Given the description of an element on the screen output the (x, y) to click on. 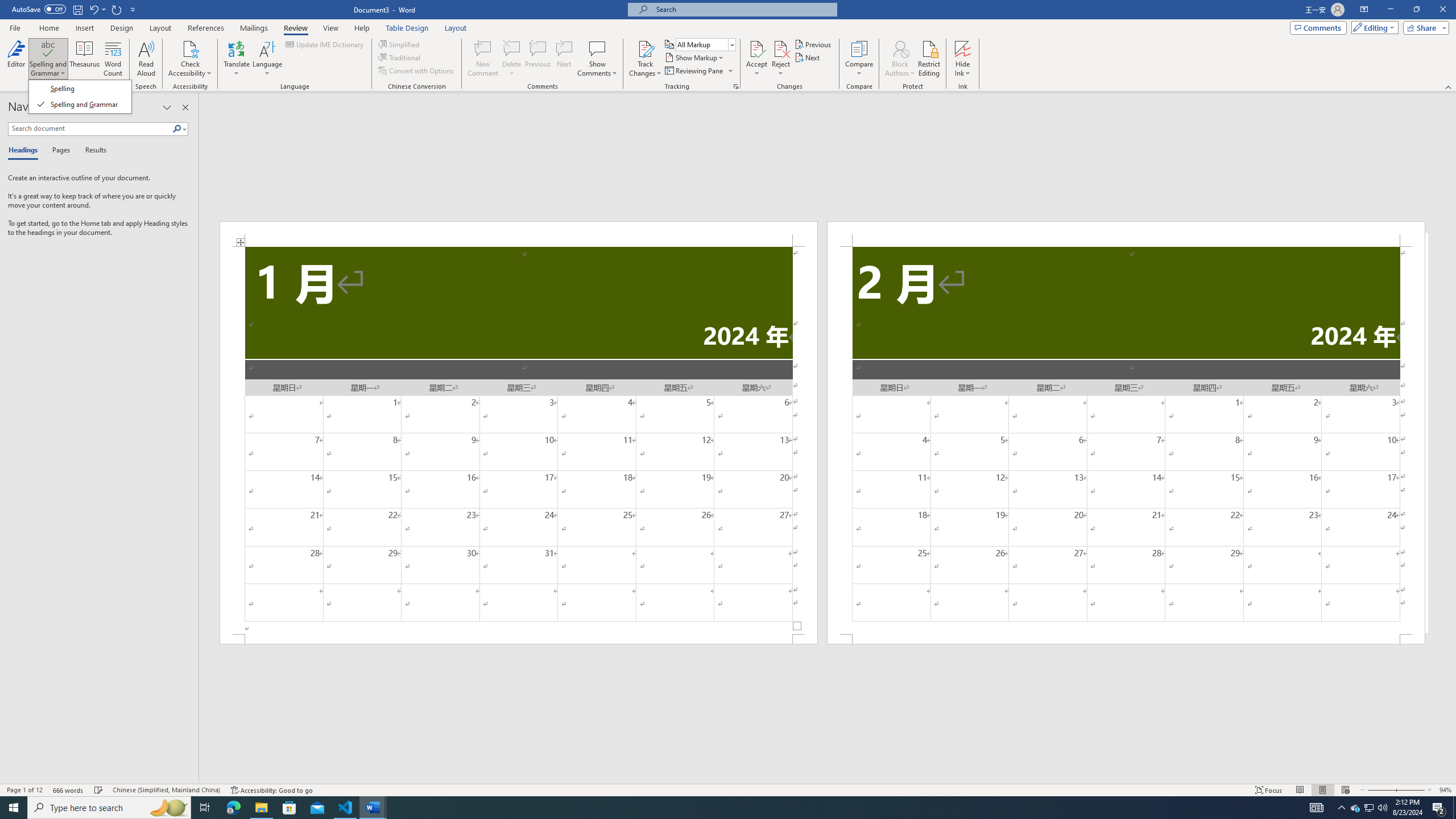
Header -Section 2- (1126, 233)
Thesaurus... (84, 58)
Page 1 content (518, 439)
